Given the description of an element on the screen output the (x, y) to click on. 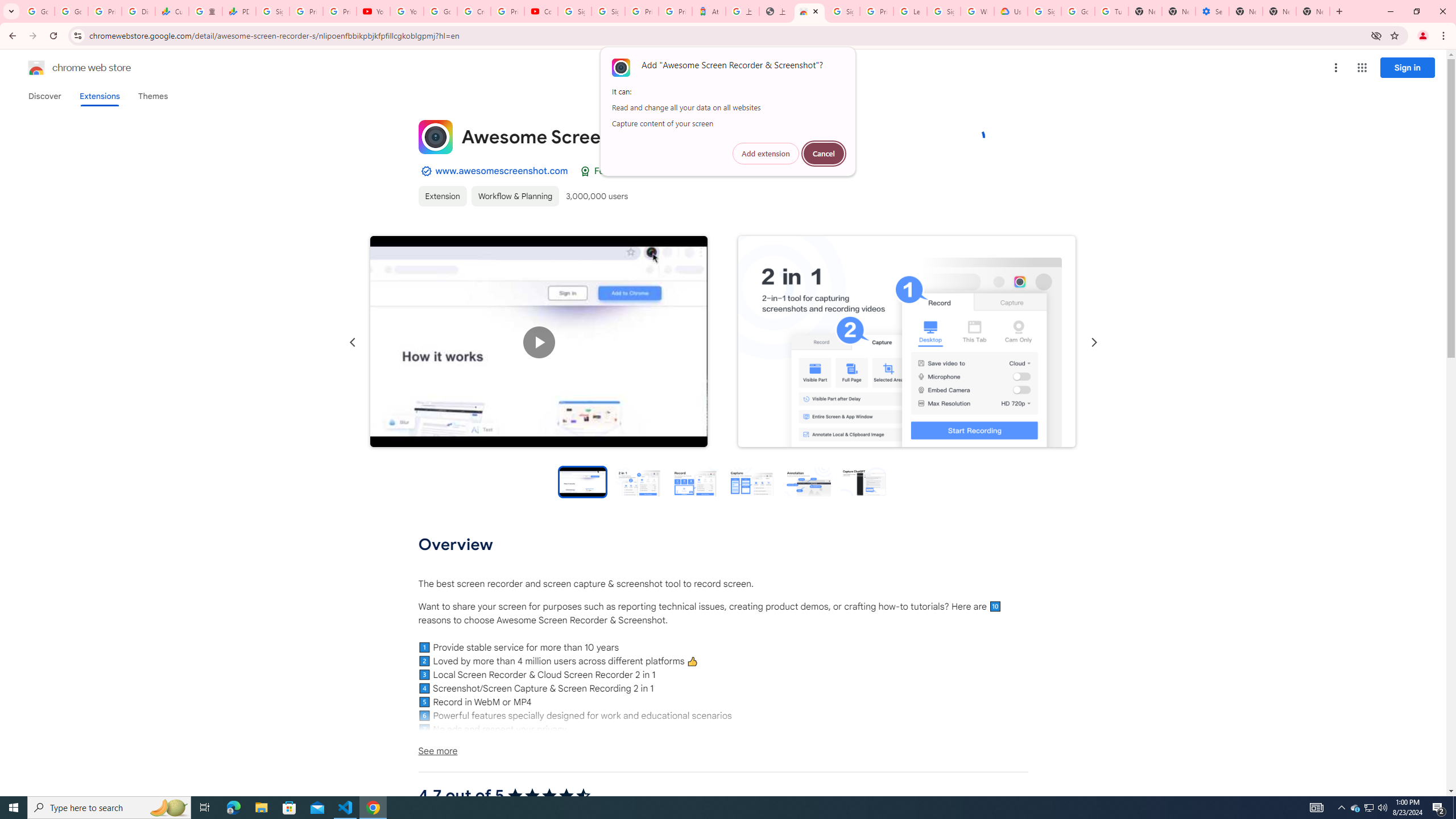
Microsoft Edge (233, 807)
Chrome Web Store logo chrome web store (67, 67)
Sign in - Google Accounts (943, 11)
Item media 2 screenshot (906, 341)
Google Workspace Admin Community (37, 11)
Sign in - Google Accounts (842, 11)
Google Chrome - 1 running window (373, 807)
Awesome Screen Recorder & Screenshot - Chrome Web Store (809, 11)
Visual Studio Code - 1 running window (345, 807)
Sign in - Google Accounts (1043, 11)
